Given the description of an element on the screen output the (x, y) to click on. 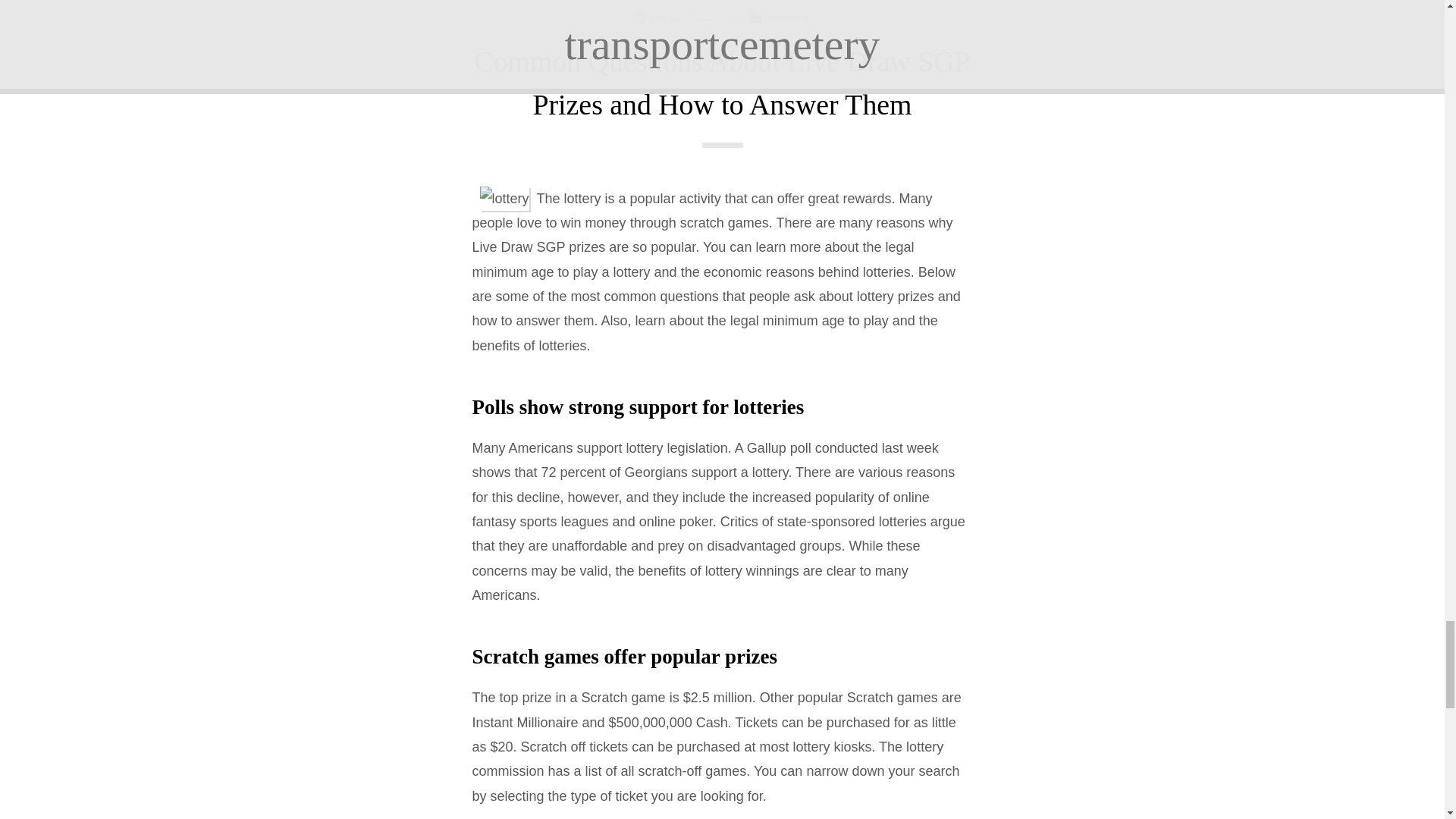
Gambling (787, 16)
July 25, 2022 (677, 15)
